Given the description of an element on the screen output the (x, y) to click on. 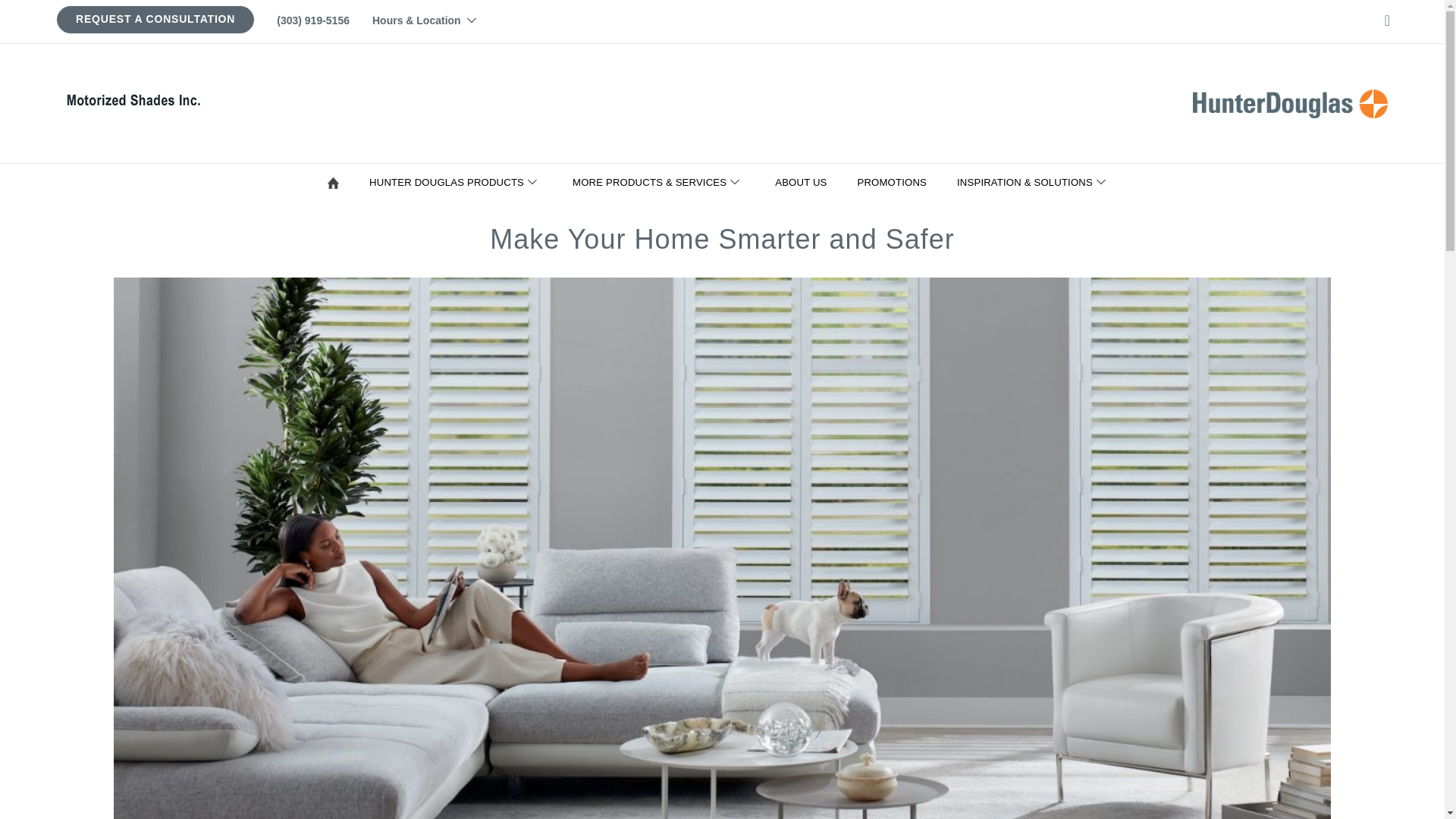
ABOUT US (803, 182)
PROMOTIONS (894, 182)
HUNTER DOUGLAS PRODUCTS (458, 182)
REQUEST A CONSULTATION (155, 18)
